Given the description of an element on the screen output the (x, y) to click on. 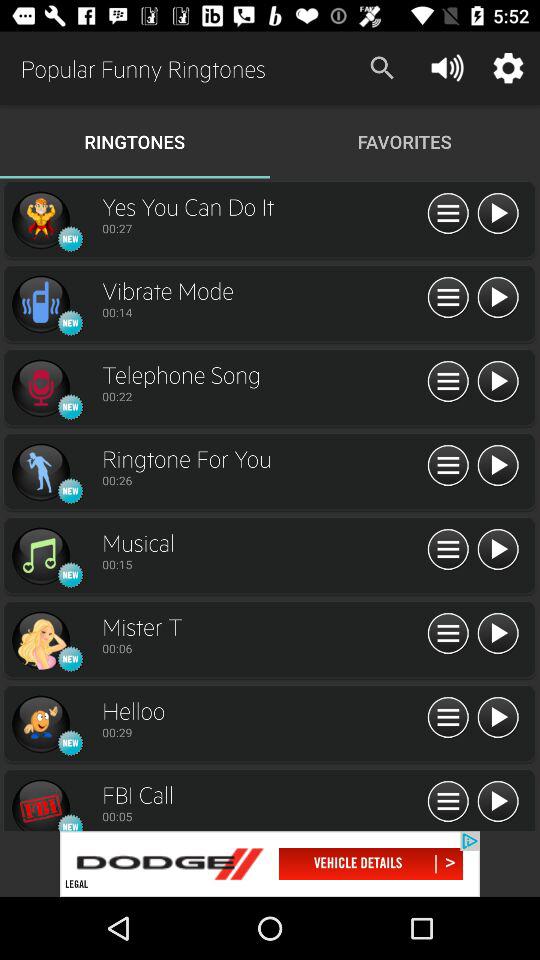
play song (497, 717)
